Given the description of an element on the screen output the (x, y) to click on. 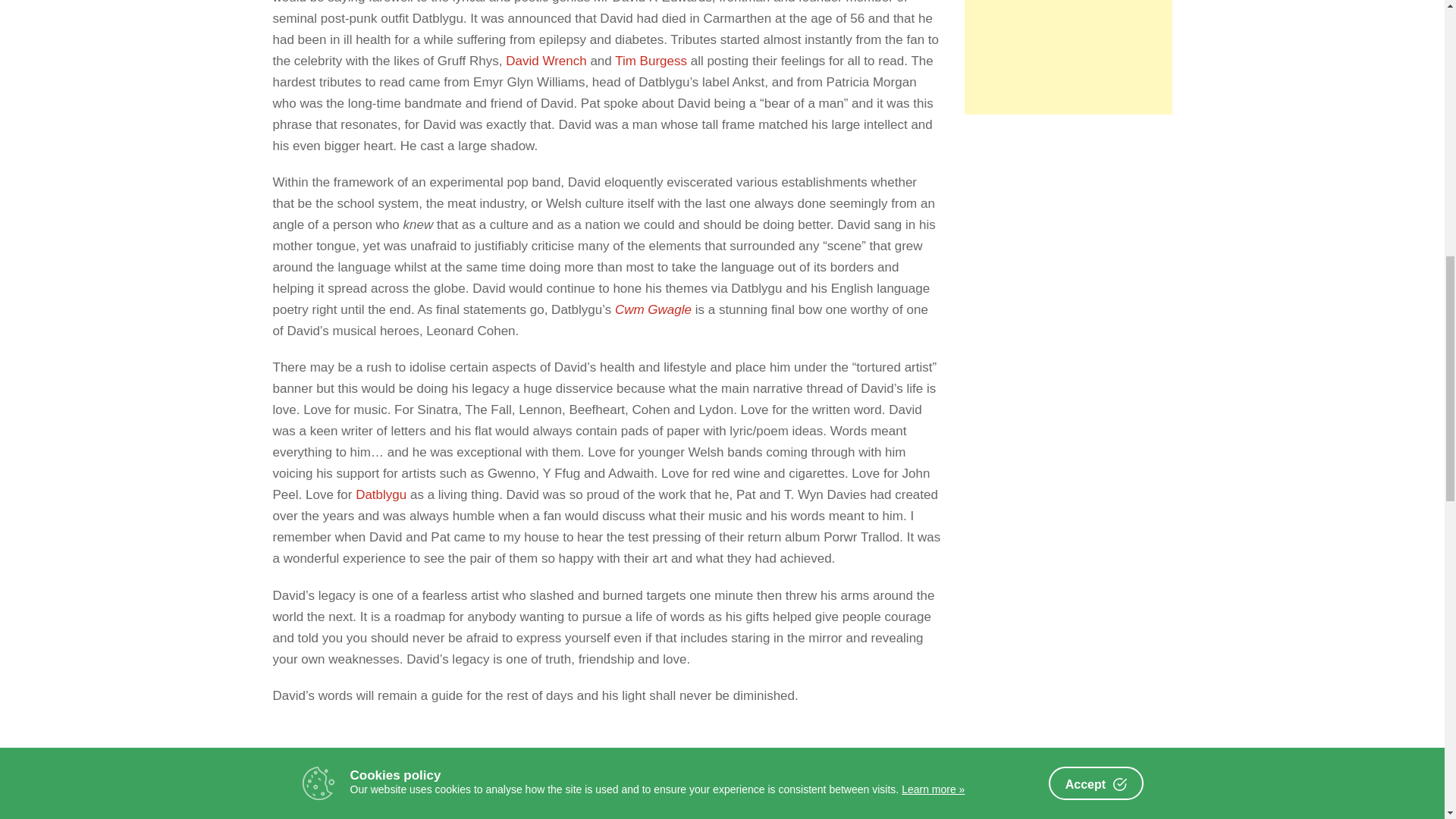
Advertisement (1067, 57)
Share this post on Facebook! (397, 807)
Pinterest (473, 807)
Share this post on Twitter! (435, 807)
